Given the description of an element on the screen output the (x, y) to click on. 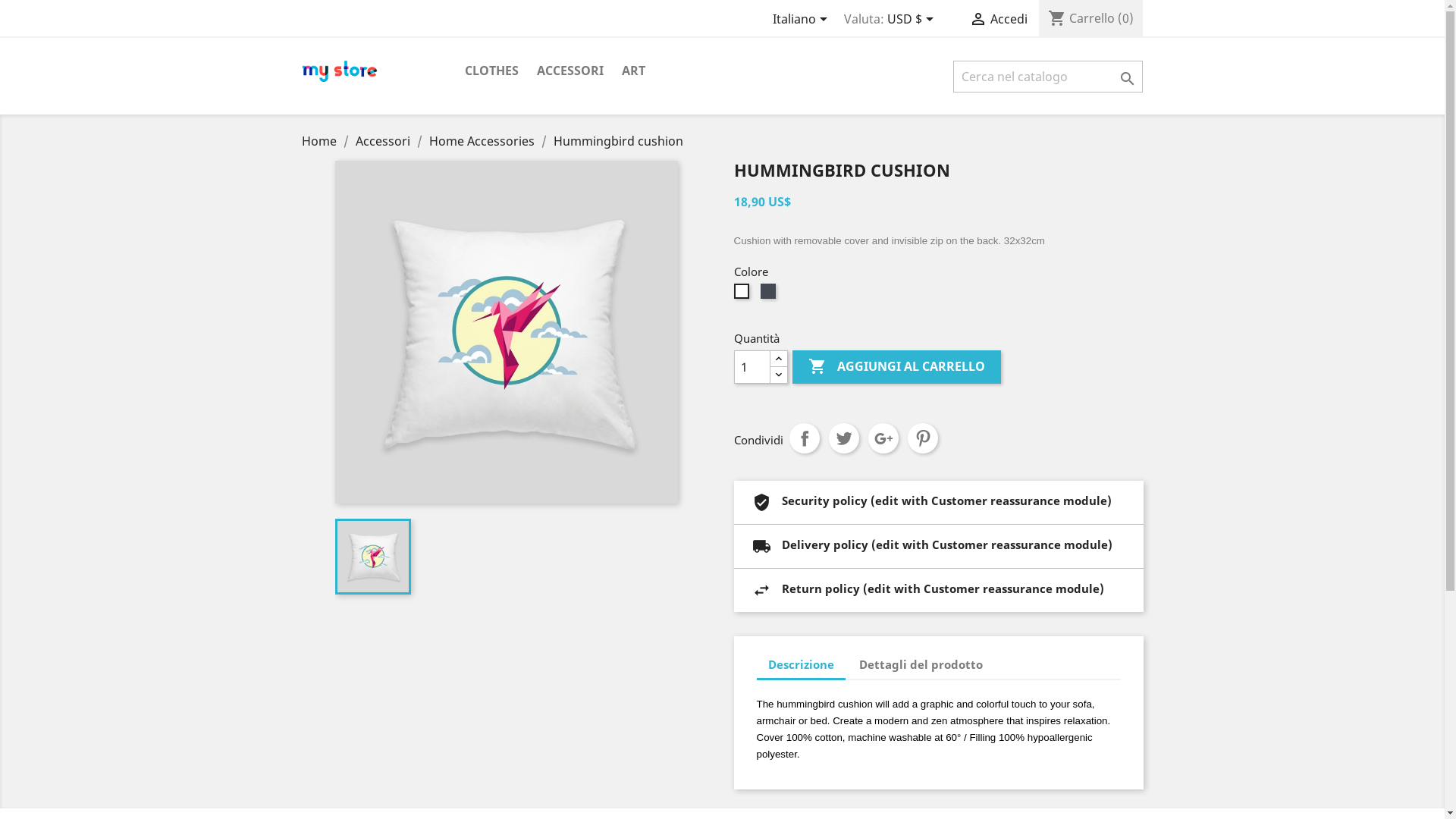
Descrizione Element type: text (800, 665)
Home Element type: text (320, 140)
CLOTHES Element type: text (490, 71)
Hummingbird cushion Element type: text (618, 140)
Hummingbird cushion Element type: hover (373, 556)
ART Element type: text (633, 71)
Twitta Element type: text (843, 438)
Condividi Element type: text (803, 438)
Pinterest Element type: text (921, 438)
Dettagli del prodotto Element type: text (920, 664)
Google+ Element type: text (882, 438)
Hummingbird cushion Element type: hover (506, 331)
Home Accessories Element type: text (483, 140)
Accessori Element type: text (383, 140)
ACCESSORI Element type: text (570, 71)
